Given the description of an element on the screen output the (x, y) to click on. 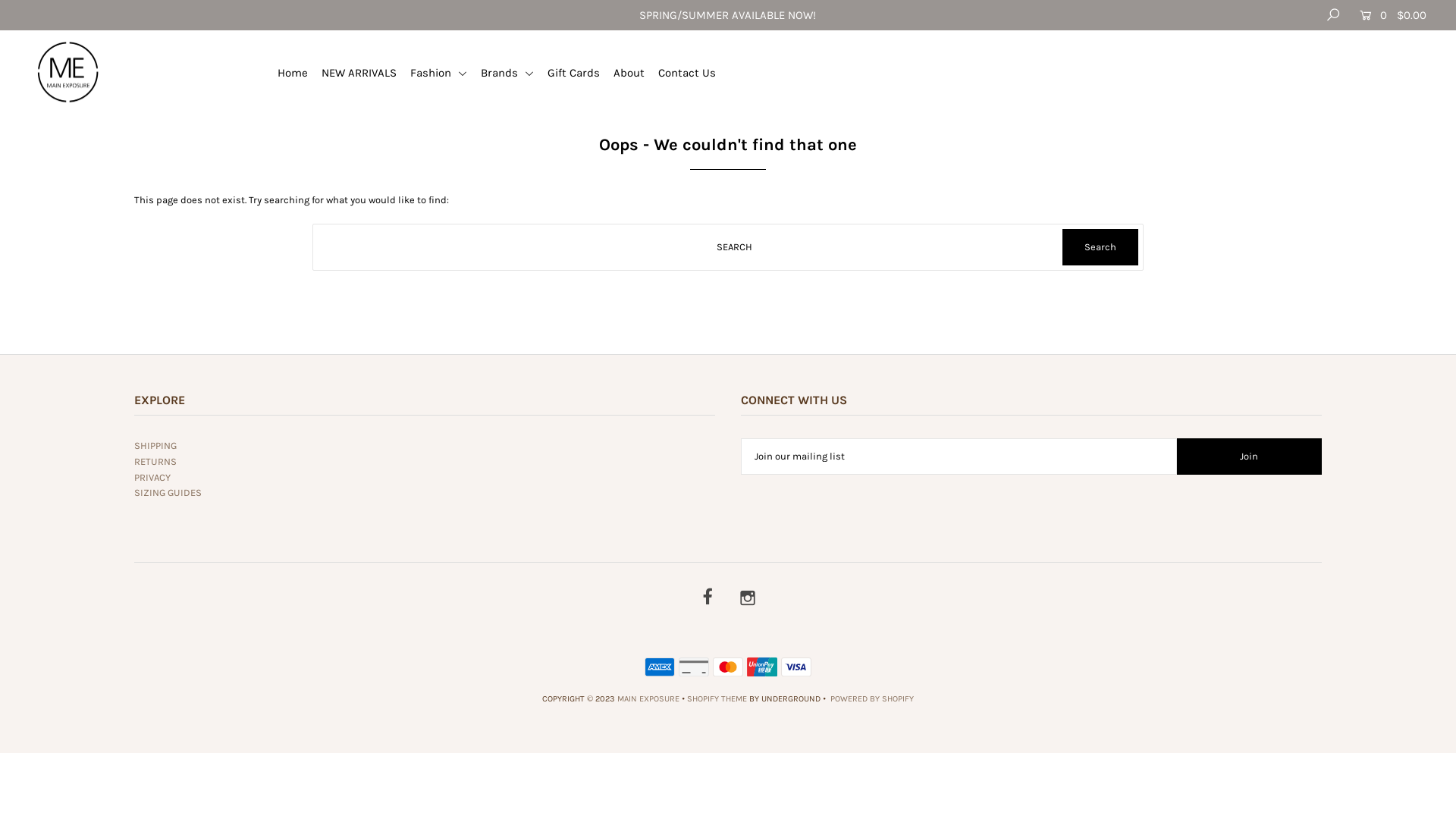
Home Element type: text (298, 72)
Join Element type: text (1249, 456)
PRIVACY Element type: text (152, 477)
Brands Element type: text (512, 72)
Contact Us Element type: text (692, 72)
MAIN EXPOSURE Element type: text (648, 698)
Fashion Element type: text (444, 72)
POWERED BY SHOPIFY Element type: text (871, 698)
About Element type: text (634, 72)
RETURNS Element type: text (155, 461)
Gift Cards Element type: text (579, 72)
Search Element type: text (1100, 247)
  0  $0.00 Element type: text (1388, 15)
NEW ARRIVALS Element type: text (364, 72)
SHIPPING Element type: text (155, 445)
SHOPIFY THEME Element type: text (716, 698)
SIZING GUIDES Element type: text (167, 492)
